Given the description of an element on the screen output the (x, y) to click on. 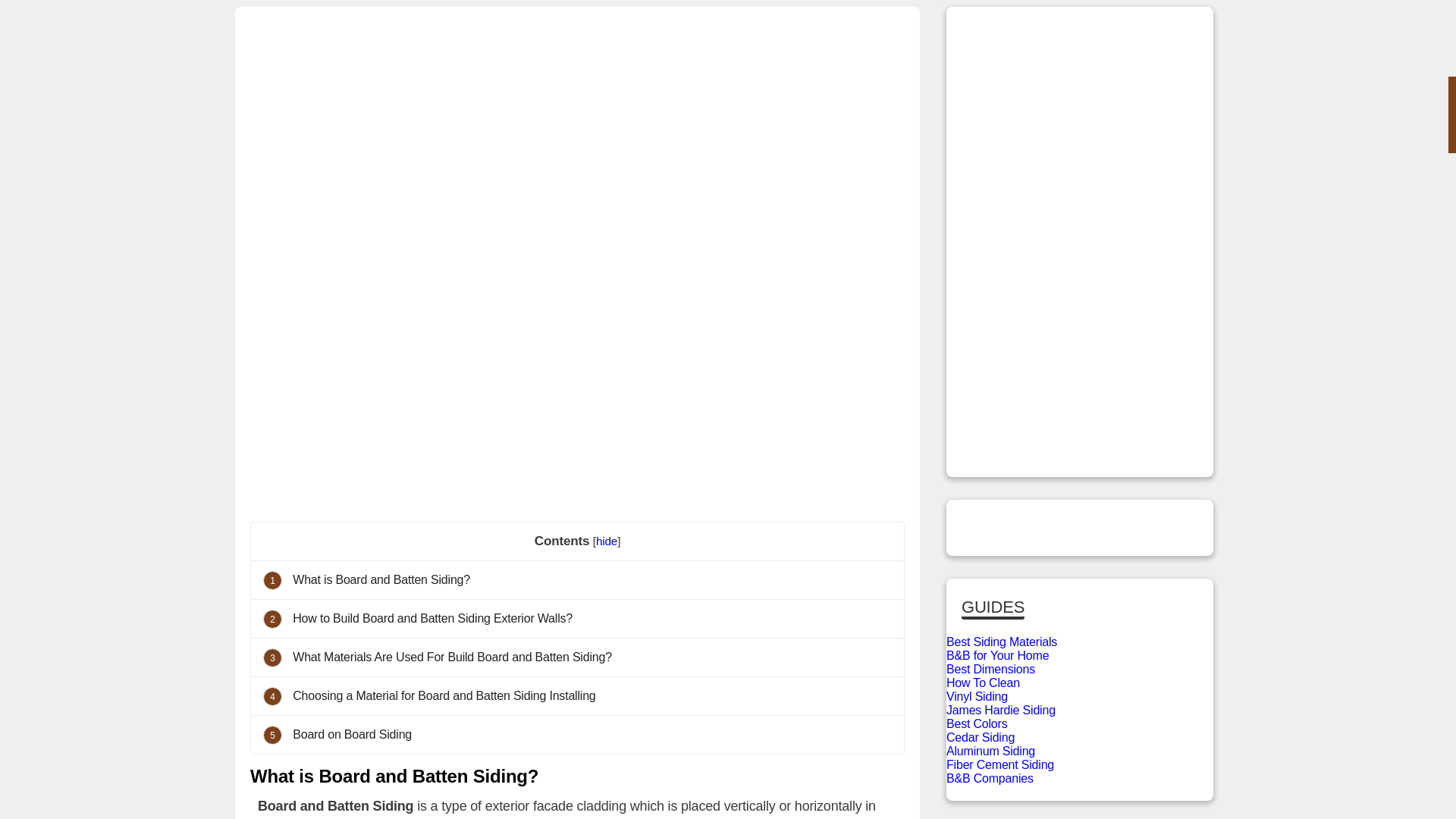
1 What is Board and Batten Siding? (577, 579)
2 How to Build Board and Batten Siding Exterior Walls? (577, 618)
hide (606, 540)
4 Choosing a Material for Board and Batten Siding Installing (577, 695)
3 What Materials Are Used For Build Board and Batten Siding? (577, 657)
5 Board on Board Siding (577, 733)
Advertisement (577, 382)
